Given the description of an element on the screen output the (x, y) to click on. 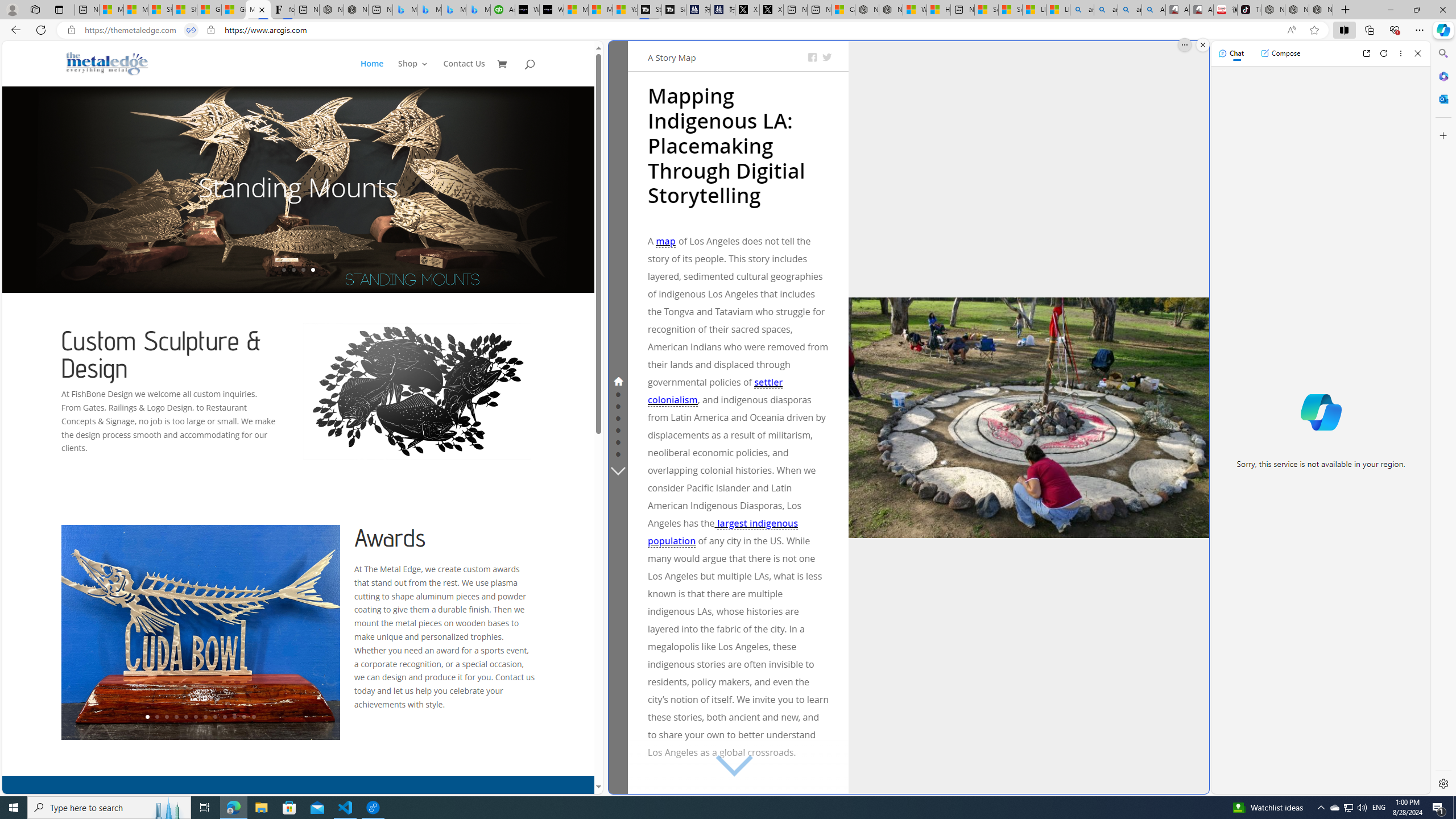
Streaming Coverage | T3 (648, 9)
Address and search bar (680, 29)
Home (371, 72)
Nordace - Summer Adventures 2024 (890, 9)
8 (214, 716)
Shop3 (419, 72)
Skip to narrative (649, 51)
Metal Fish Sculptures & Metal Designs (106, 63)
Go to section 3: Gabrielino/Tongva  (617, 405)
Customize (1442, 135)
Settings and more (Alt+F) (1419, 29)
Go to section 6: Pacific Islanders of Los Angeles  (617, 440)
Share on Twitter (826, 57)
New tab (962, 9)
10 (233, 716)
